Given the description of an element on the screen output the (x, y) to click on. 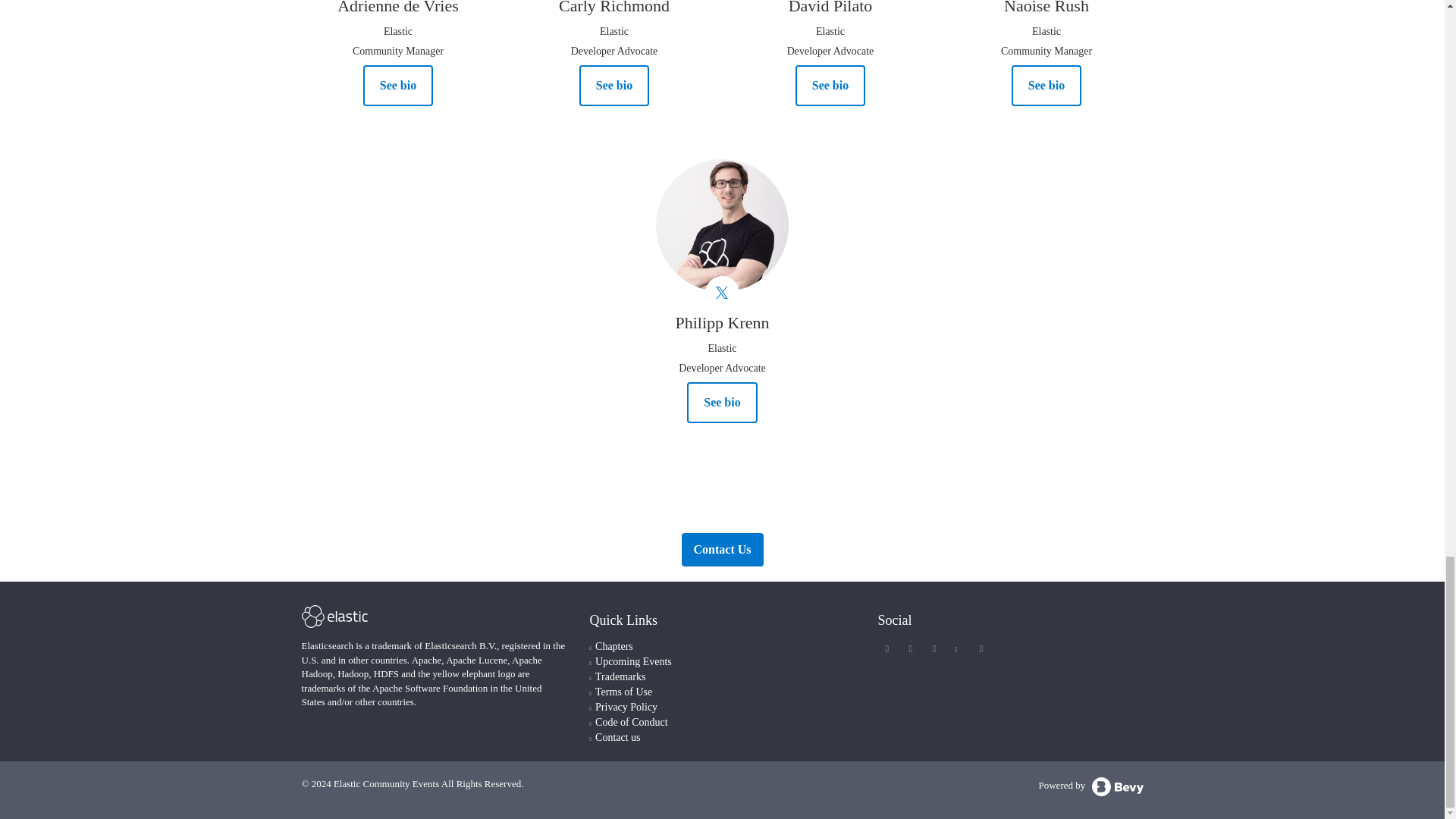
See bio (397, 85)
Contact us (617, 737)
Trademarks (620, 676)
GitHub (981, 648)
Chapters (614, 645)
LinkedIn (933, 648)
See bio (722, 402)
See bio (614, 85)
Code of Conduct (631, 722)
X (886, 648)
Privacy Policy (626, 706)
See bio (829, 85)
YouTube (956, 648)
Facebook (910, 648)
Terms of Use (623, 691)
